Given the description of an element on the screen output the (x, y) to click on. 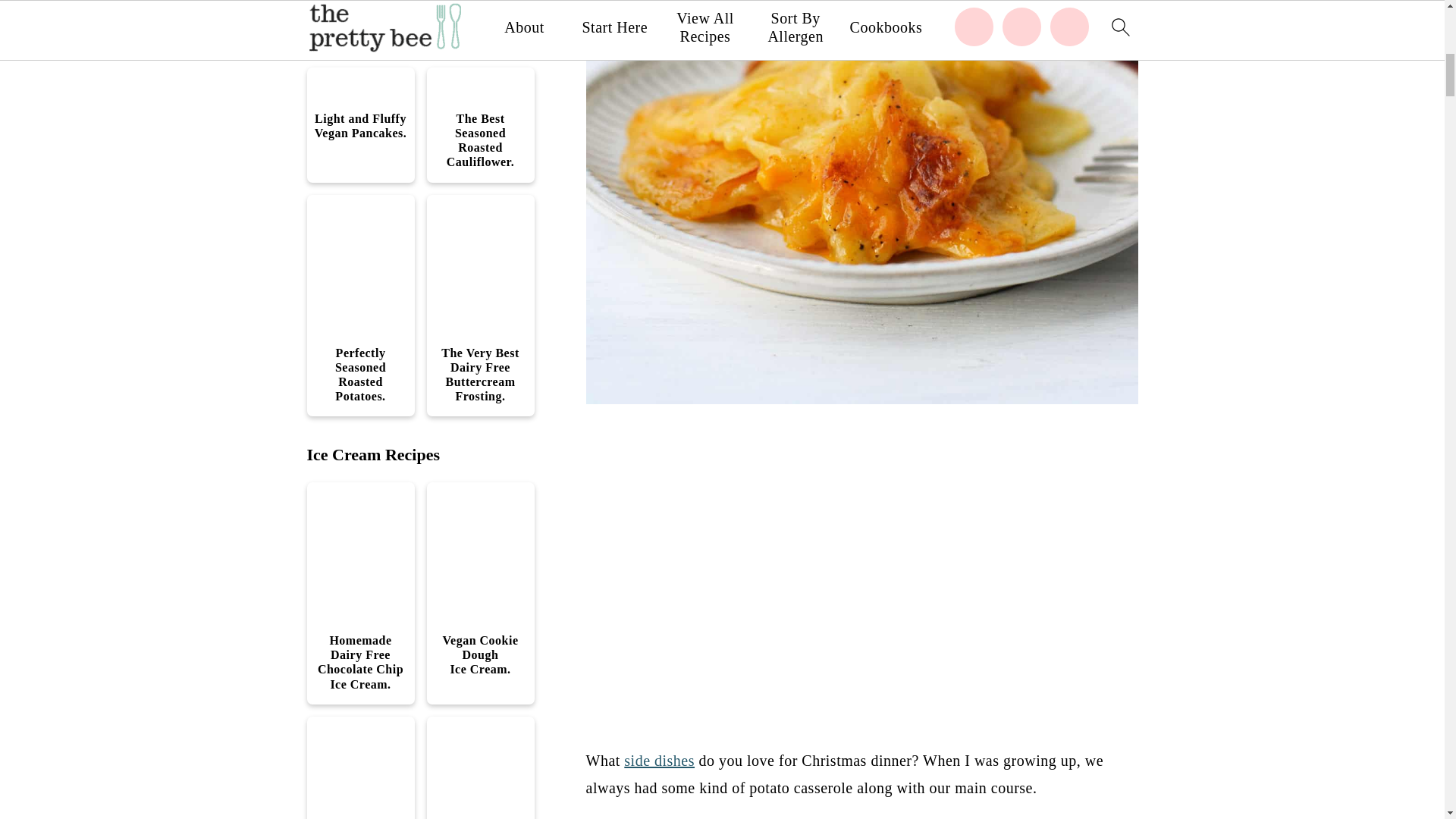
side dishes (659, 760)
